Given the description of an element on the screen output the (x, y) to click on. 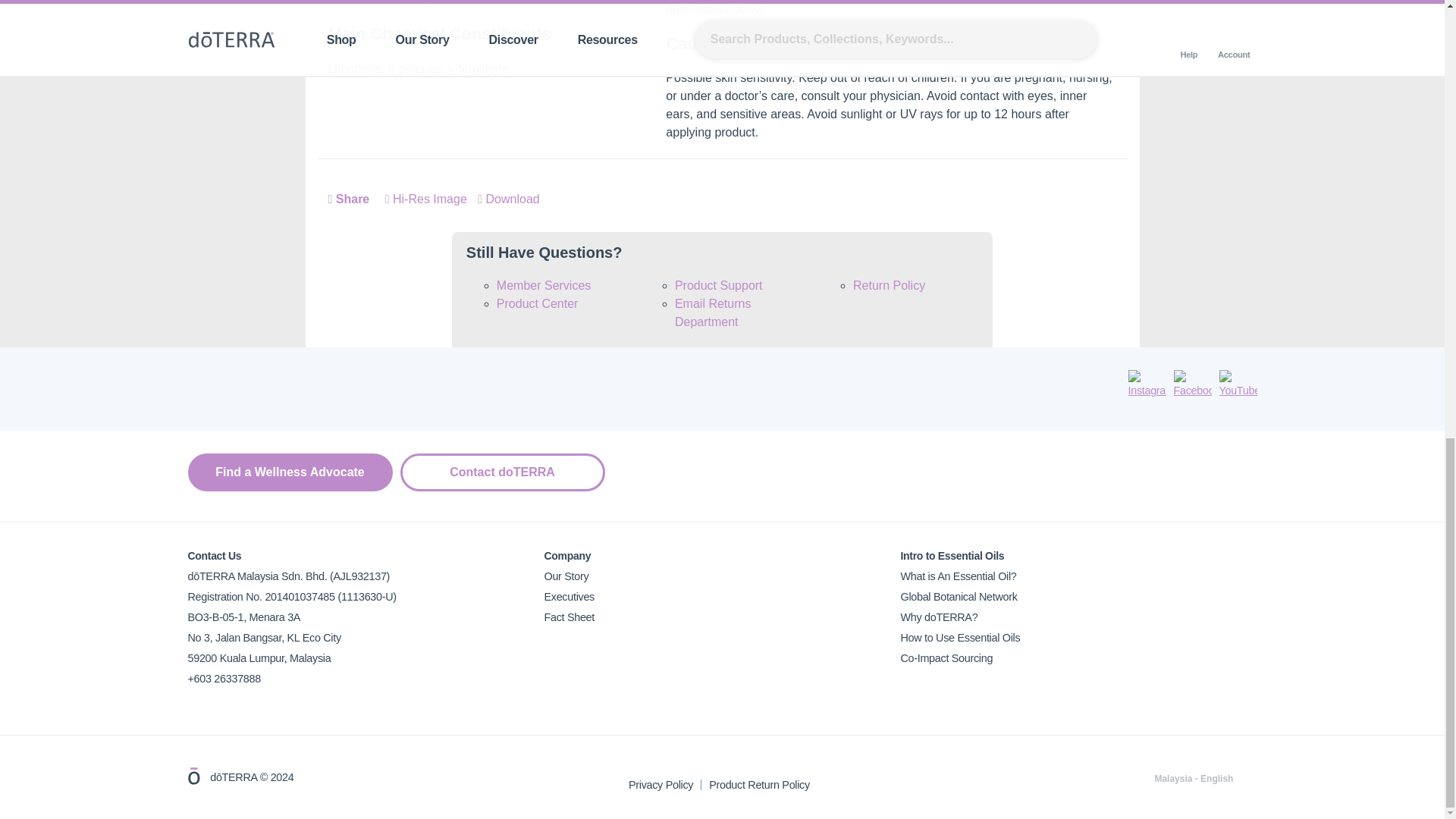
YouTube (1238, 384)
Instagram (1147, 384)
Facebook (1192, 384)
